Given the description of an element on the screen output the (x, y) to click on. 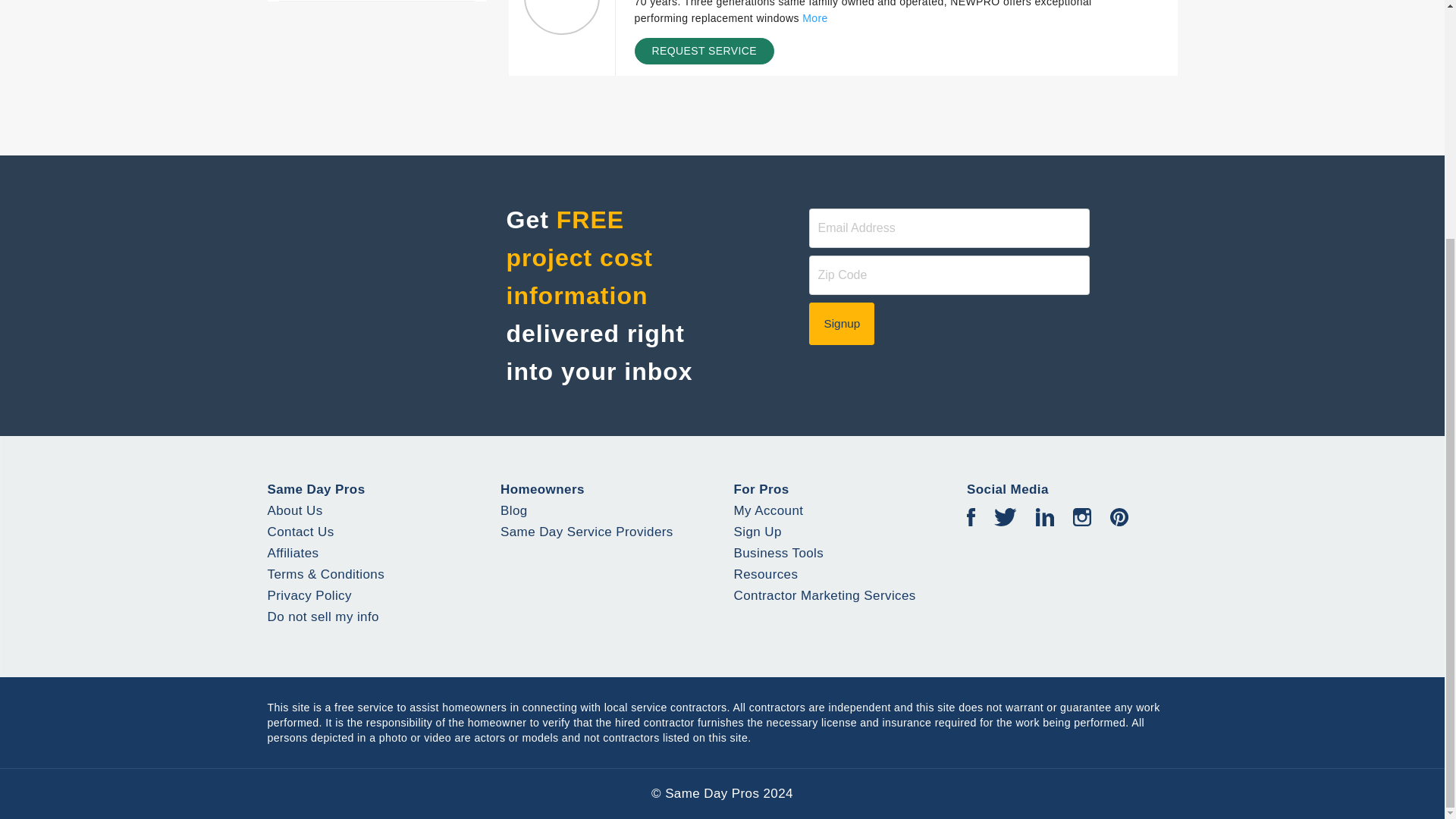
Affiliates (292, 553)
Business Tools (778, 553)
Sign Up (757, 531)
My Account (768, 510)
Signup (842, 323)
Resources (765, 574)
Privacy Policy (308, 595)
About Us (293, 510)
Contractor Marketing Services (824, 595)
Contact Us (299, 531)
